Given the description of an element on the screen output the (x, y) to click on. 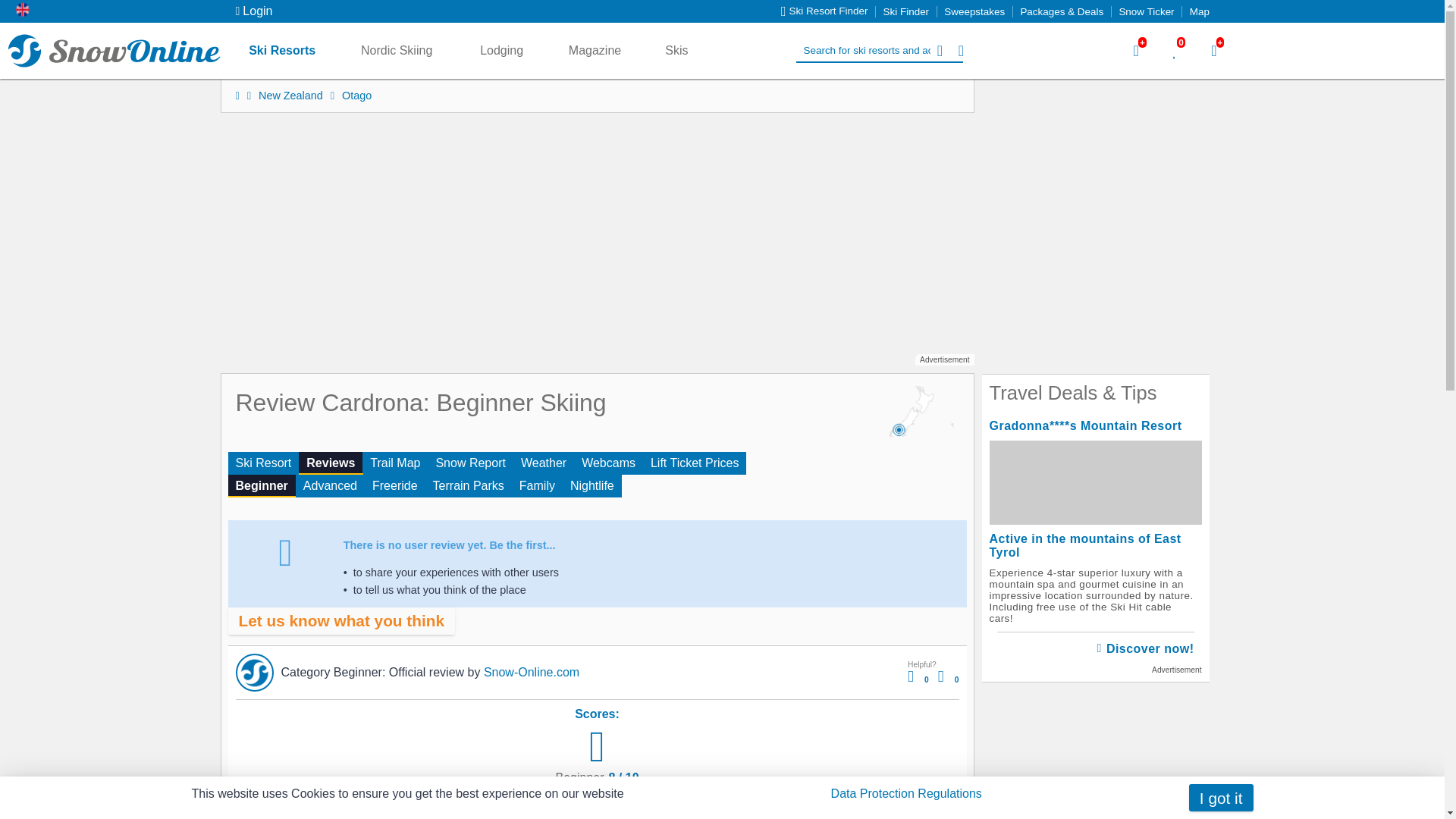
Reviews of Cardrona (591, 486)
Snow-Online- Tourism and Sports online! (242, 95)
Around Me (960, 50)
Webcams (608, 463)
Family (537, 486)
Reviews (330, 463)
Reviews of Cardrona (468, 486)
Search (939, 50)
Terrain Parks (468, 486)
Trail Map Cardrona (395, 463)
